Given the description of an element on the screen output the (x, y) to click on. 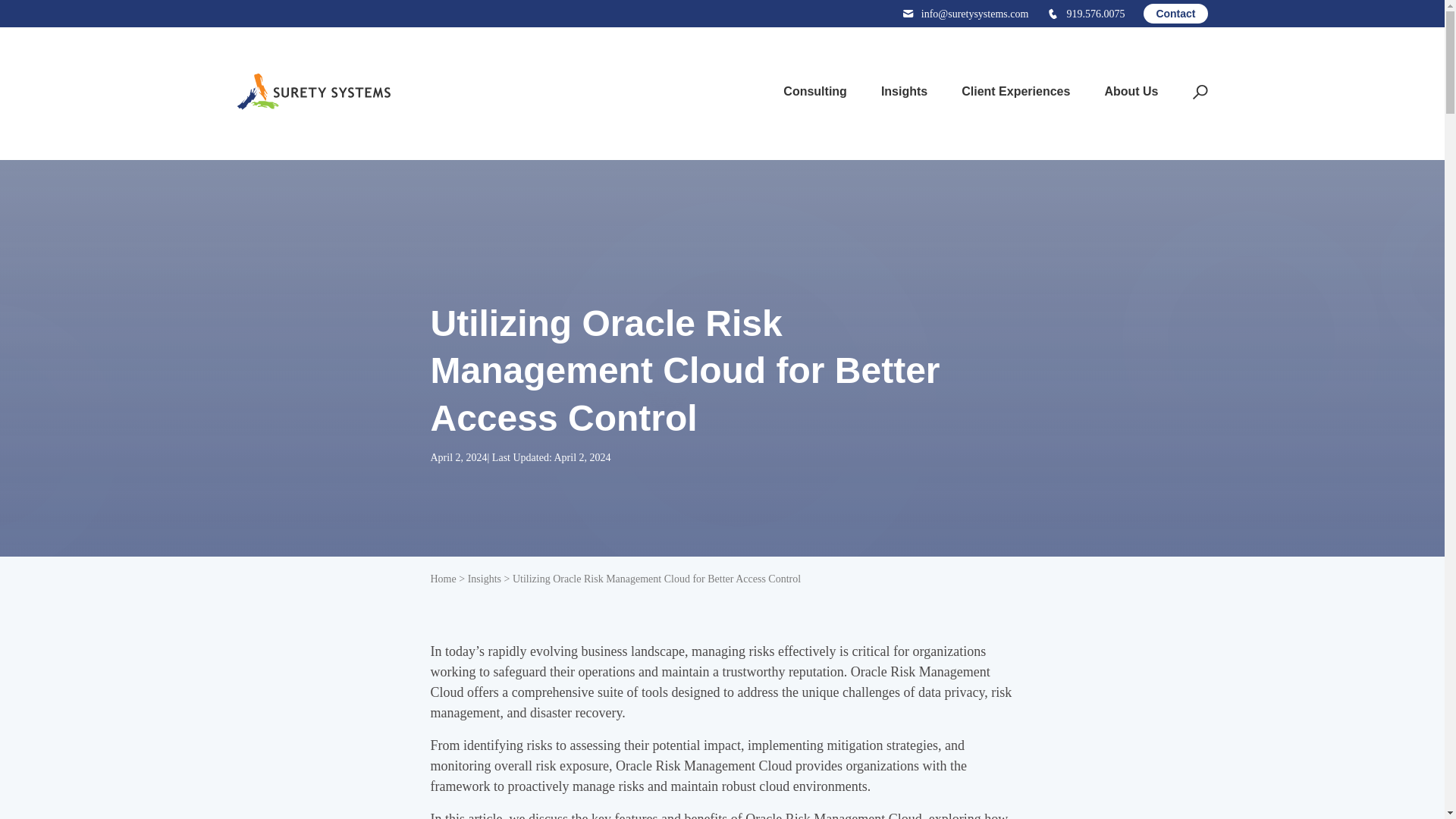
Contact (1174, 13)
Client Experiences (1010, 91)
About Us (1125, 91)
Consulting (809, 91)
Insights (899, 91)
919.576.0075 (1085, 13)
